Given the description of an element on the screen output the (x, y) to click on. 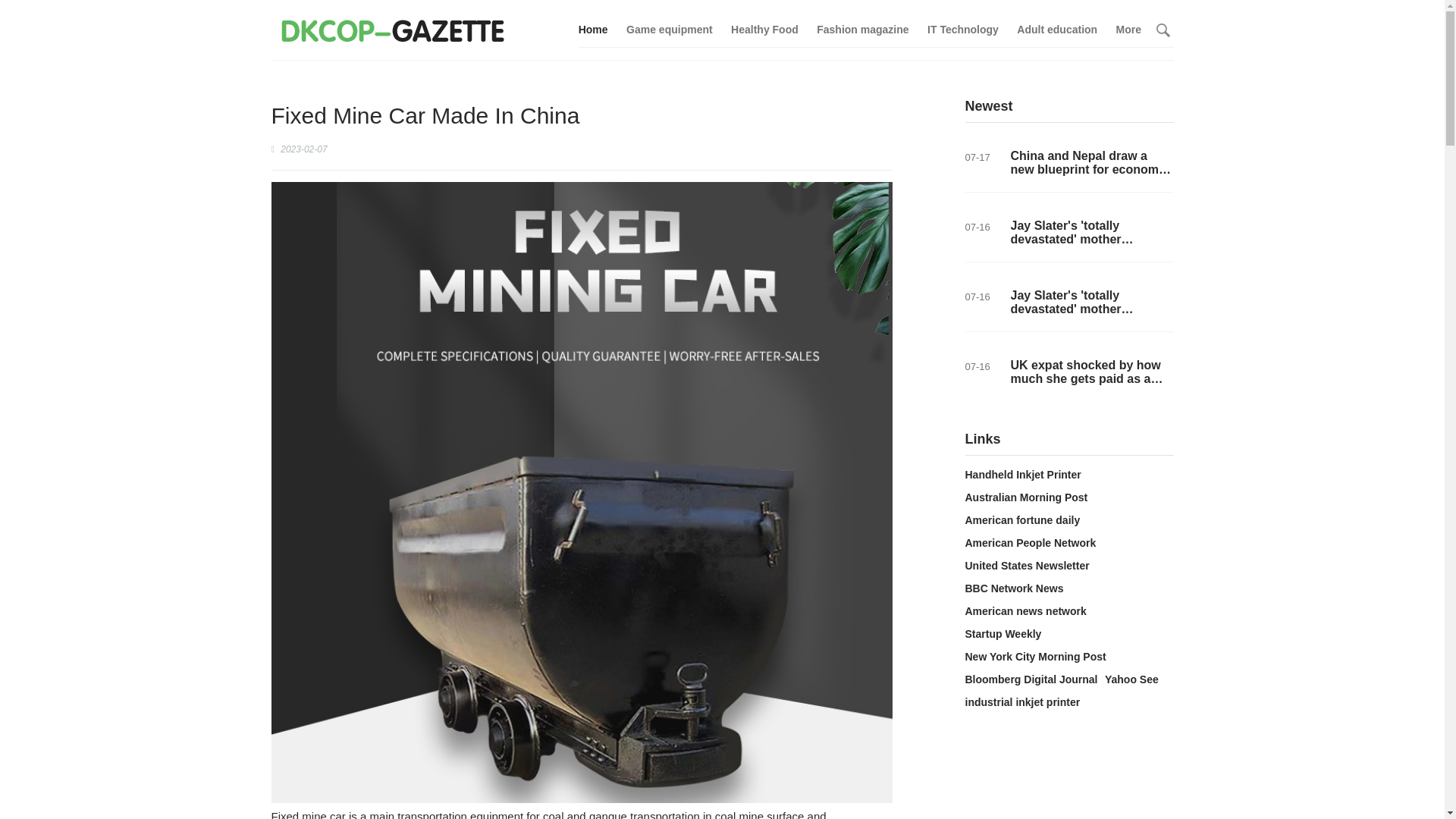
Game equipment (669, 29)
Adult education (1056, 29)
Healthy Food (763, 29)
More (1128, 29)
Home (593, 29)
Fashion magazine (862, 29)
Modia (391, 29)
IT Technology (962, 29)
